Given the description of an element on the screen output the (x, y) to click on. 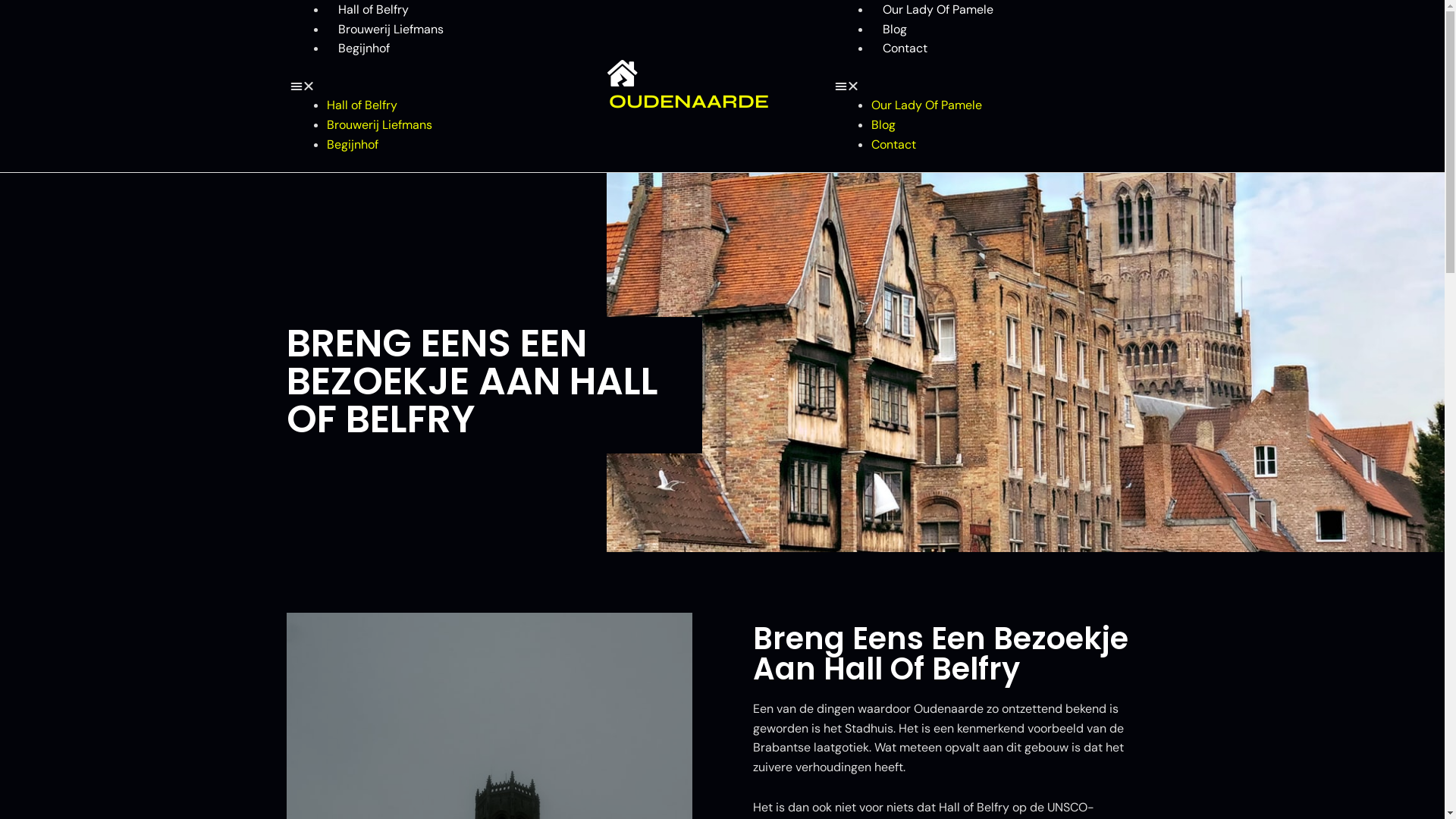
Our Lady Of Pamele Element type: text (926, 104)
Hall of Belfry Element type: text (372, 9)
Begijnhof Element type: text (363, 48)
Hall of Belfry Element type: text (361, 104)
OUDENAARDE Element type: text (688, 101)
Contact Element type: text (904, 48)
Contact Element type: text (893, 144)
Begijnhof Element type: text (351, 144)
Blog Element type: text (894, 29)
Our Lady Of Pamele Element type: text (937, 9)
Blog Element type: text (883, 124)
Brouwerij Liefmans Element type: text (390, 29)
Brouwerij Liefmans Element type: text (378, 124)
